Given the description of an element on the screen output the (x, y) to click on. 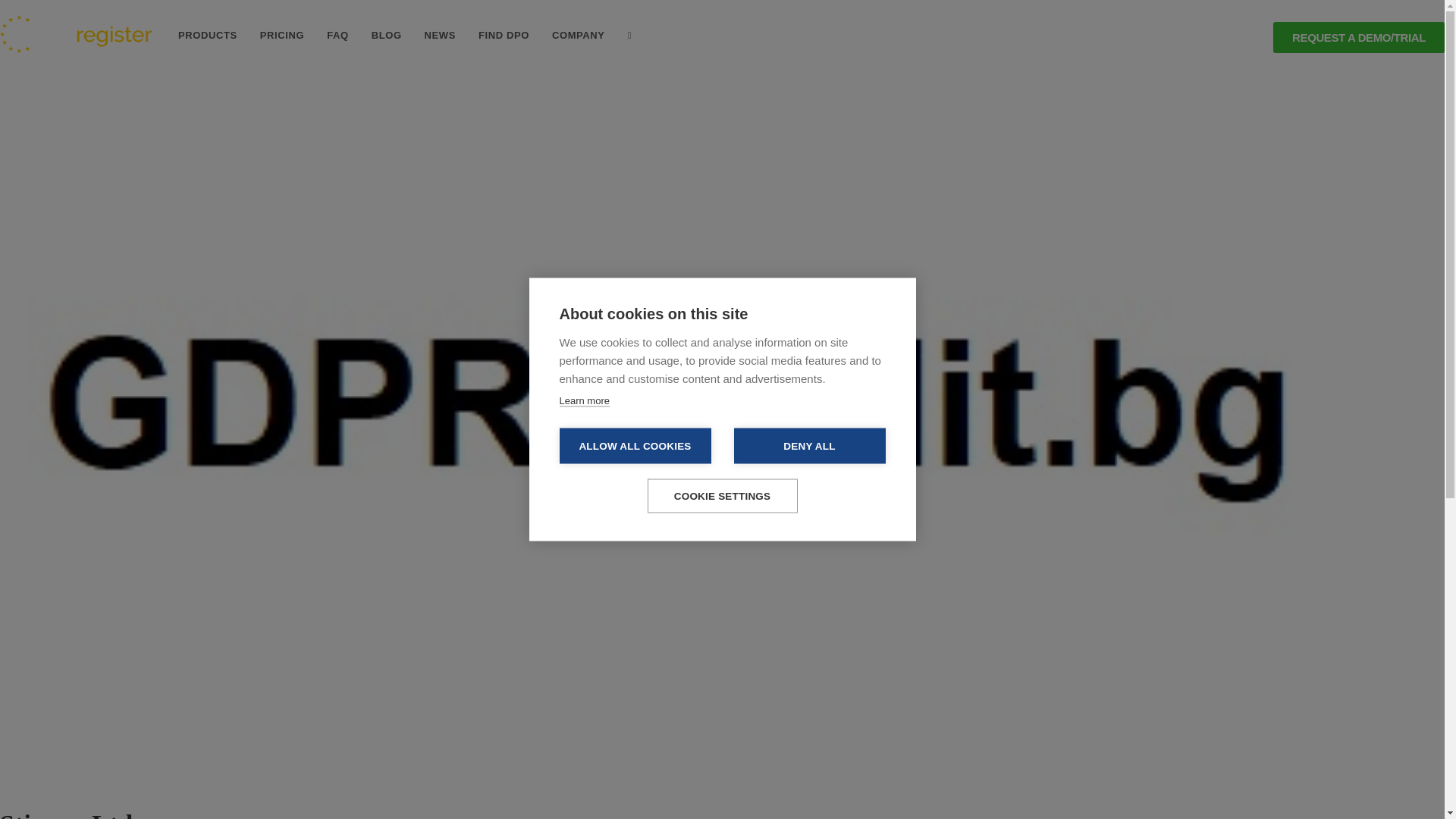
NEWS (440, 35)
PRODUCTS (207, 35)
BLOG (386, 35)
DENY ALL (809, 445)
Learn more (584, 399)
COMPANY (577, 35)
PRICING (281, 35)
COOKIE SETTINGS (722, 496)
ALLOW ALL COOKIES (635, 445)
LOGIN (1244, 37)
FIND DPO (503, 35)
